Given the description of an element on the screen output the (x, y) to click on. 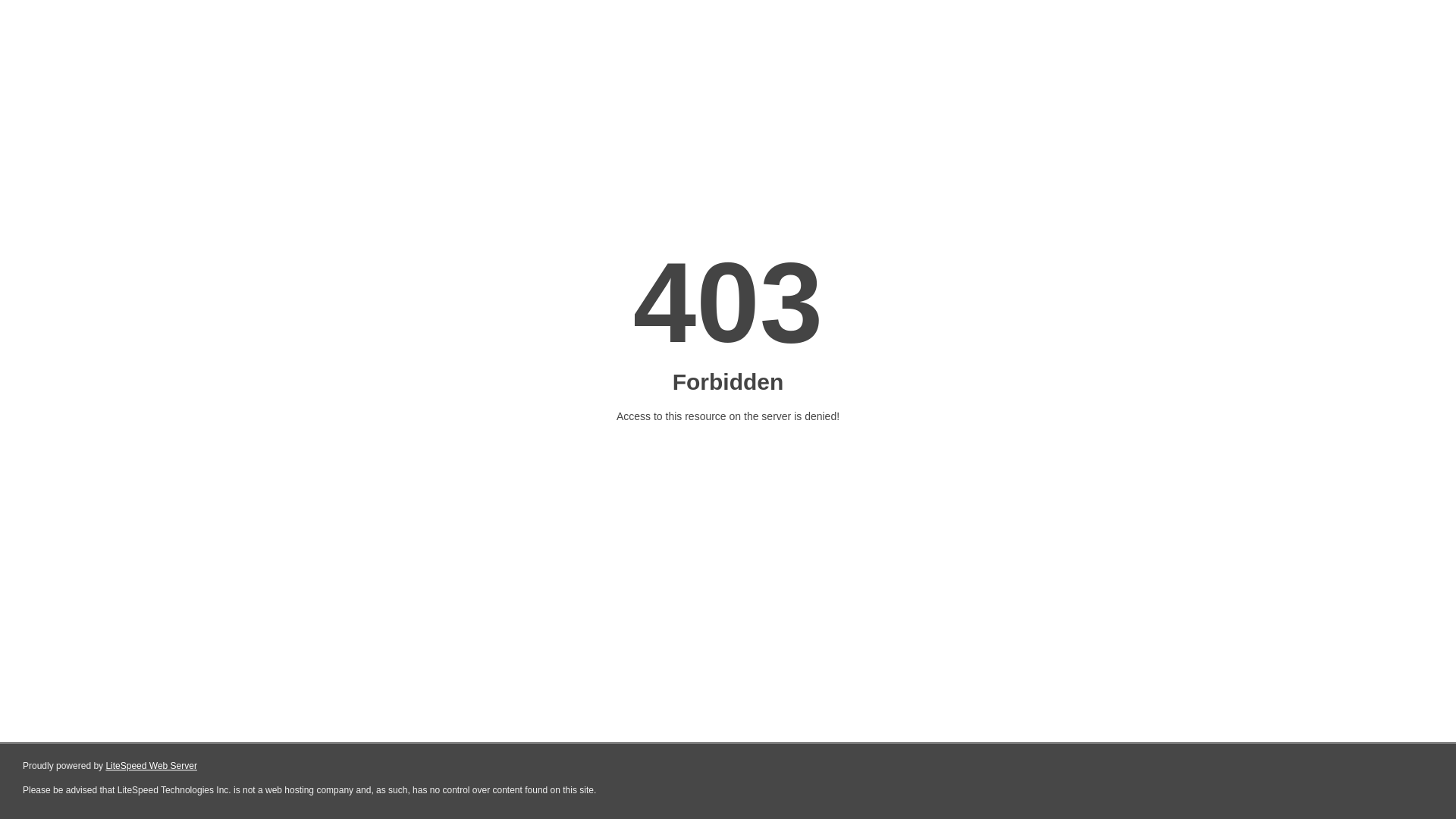
LiteSpeed Web Server Element type: text (151, 765)
